Given the description of an element on the screen output the (x, y) to click on. 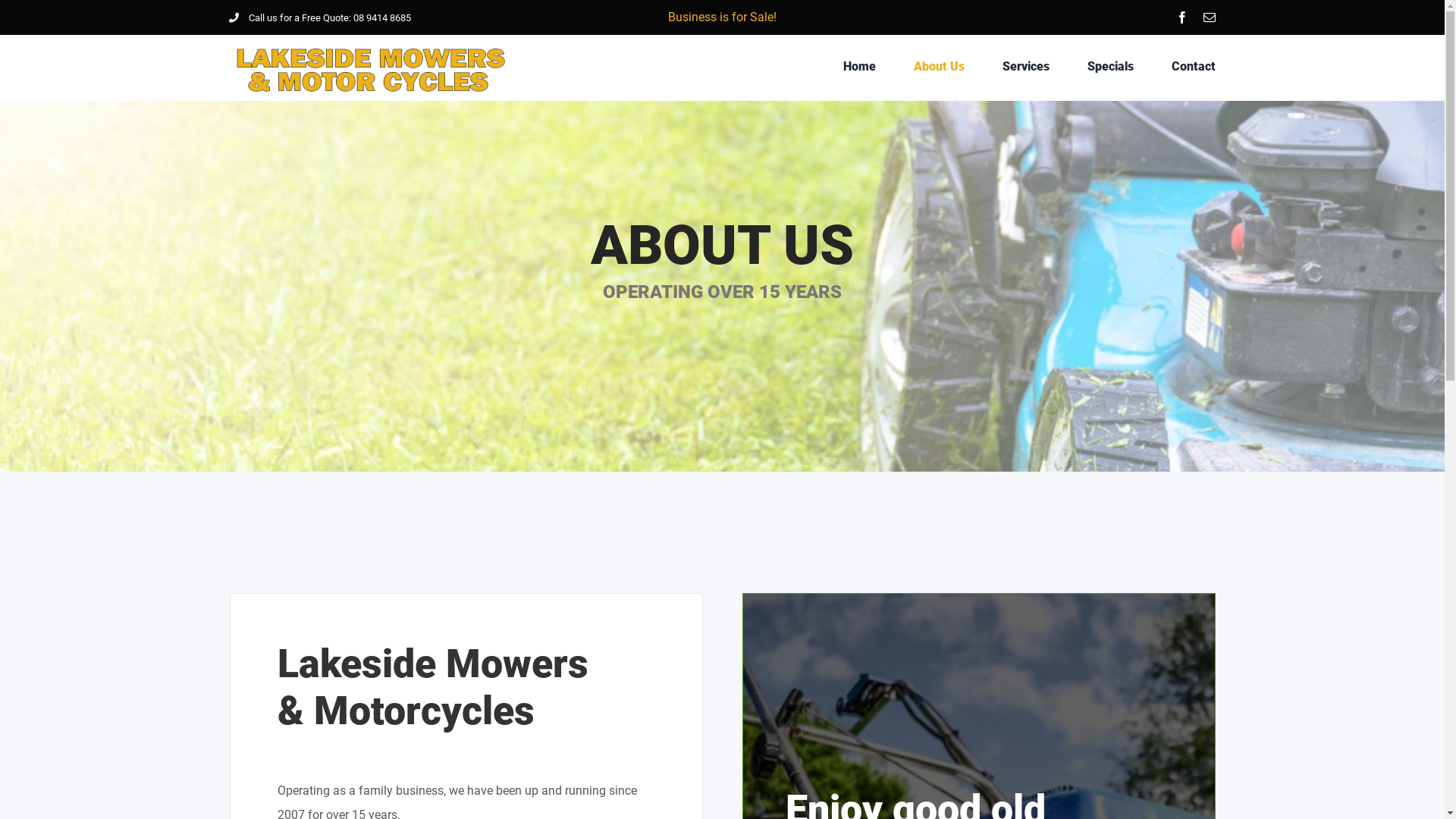
Call us for a Free Quote: 08 9414 8685 Element type: text (320, 17)
About Us Element type: text (938, 66)
Home Element type: text (859, 66)
Contact Element type: text (1193, 66)
Specials Element type: text (1110, 66)
Services Element type: text (1025, 66)
